Given the description of an element on the screen output the (x, y) to click on. 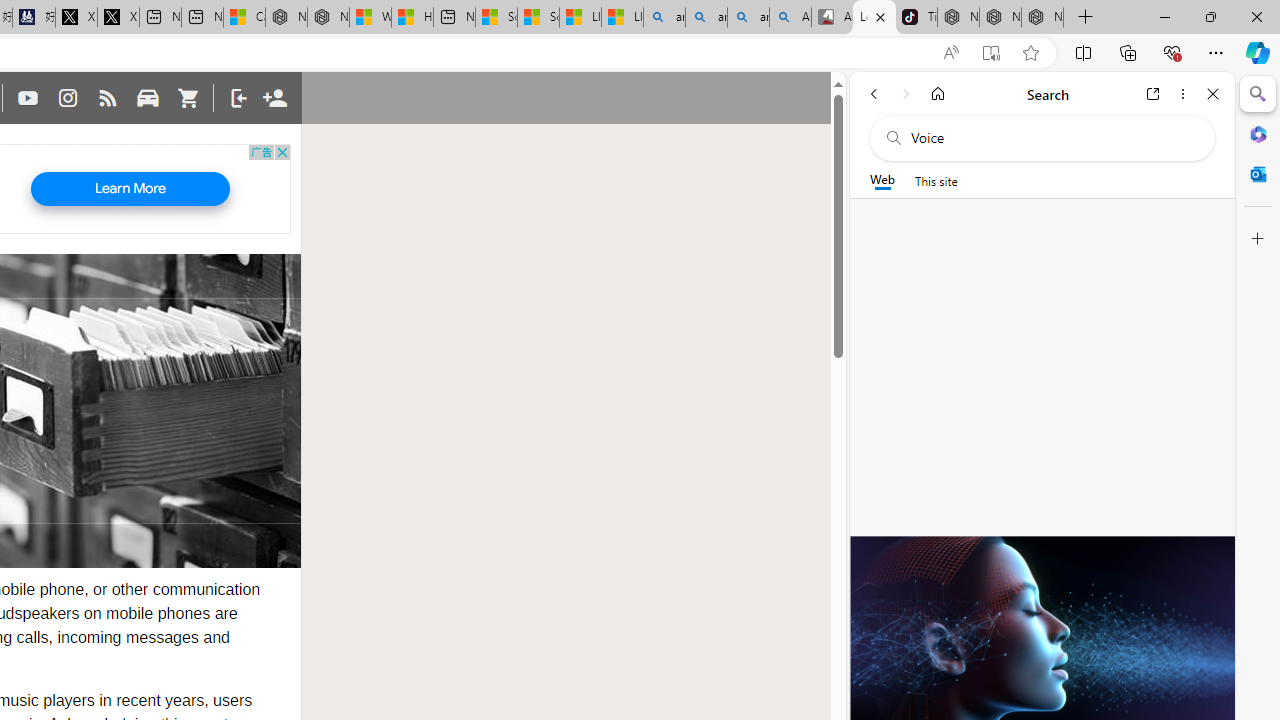
Enter Immersive Reader (F9) (991, 53)
Amazon Echo Robot - Search Images (790, 17)
Forward (906, 93)
Learn More (129, 189)
Web scope (882, 180)
Loudspeaker - definition - GSMArena.com (873, 17)
